Given the description of an element on the screen output the (x, y) to click on. 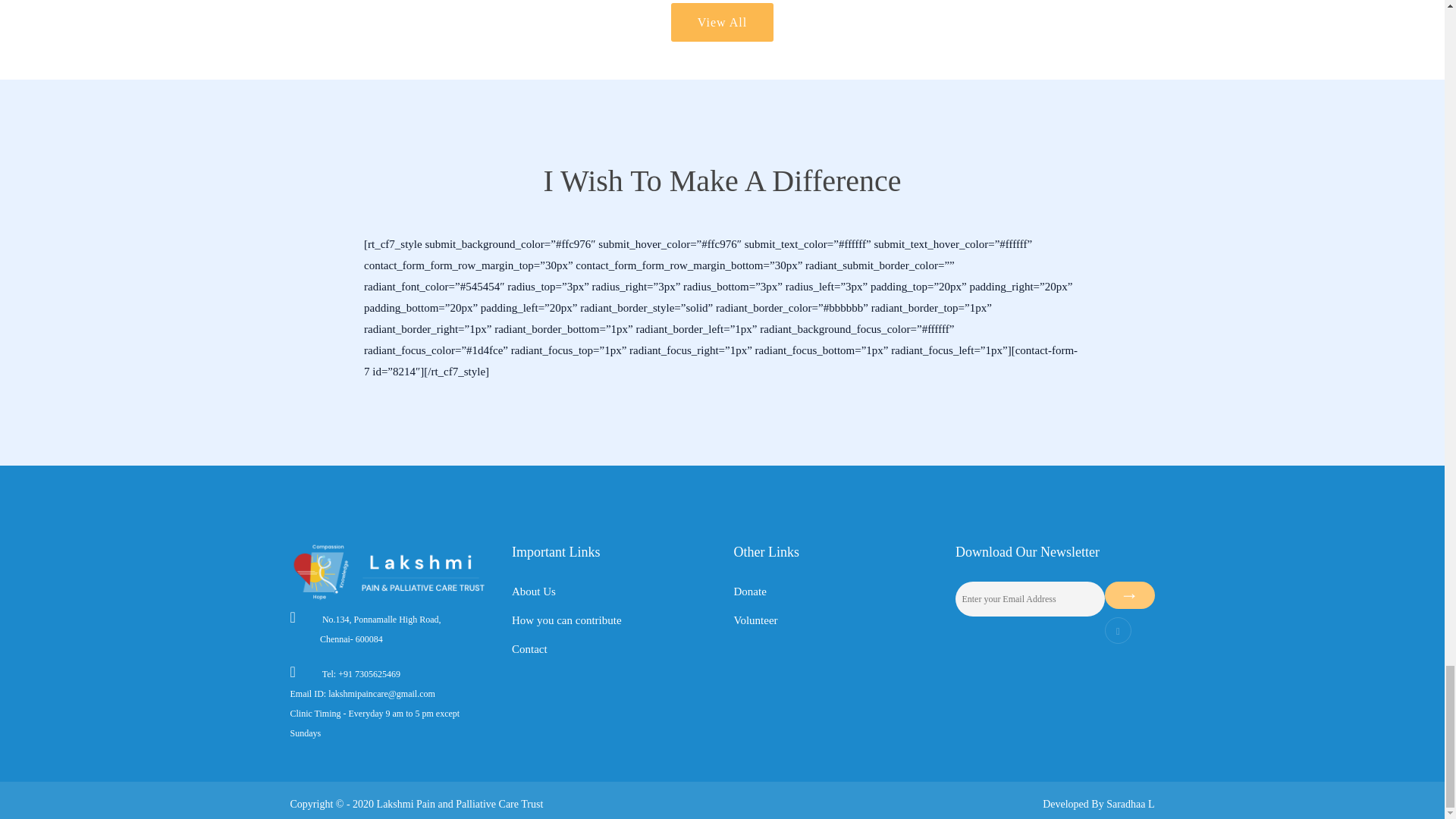
Misconceptions (722, 22)
